Given the description of an element on the screen output the (x, y) to click on. 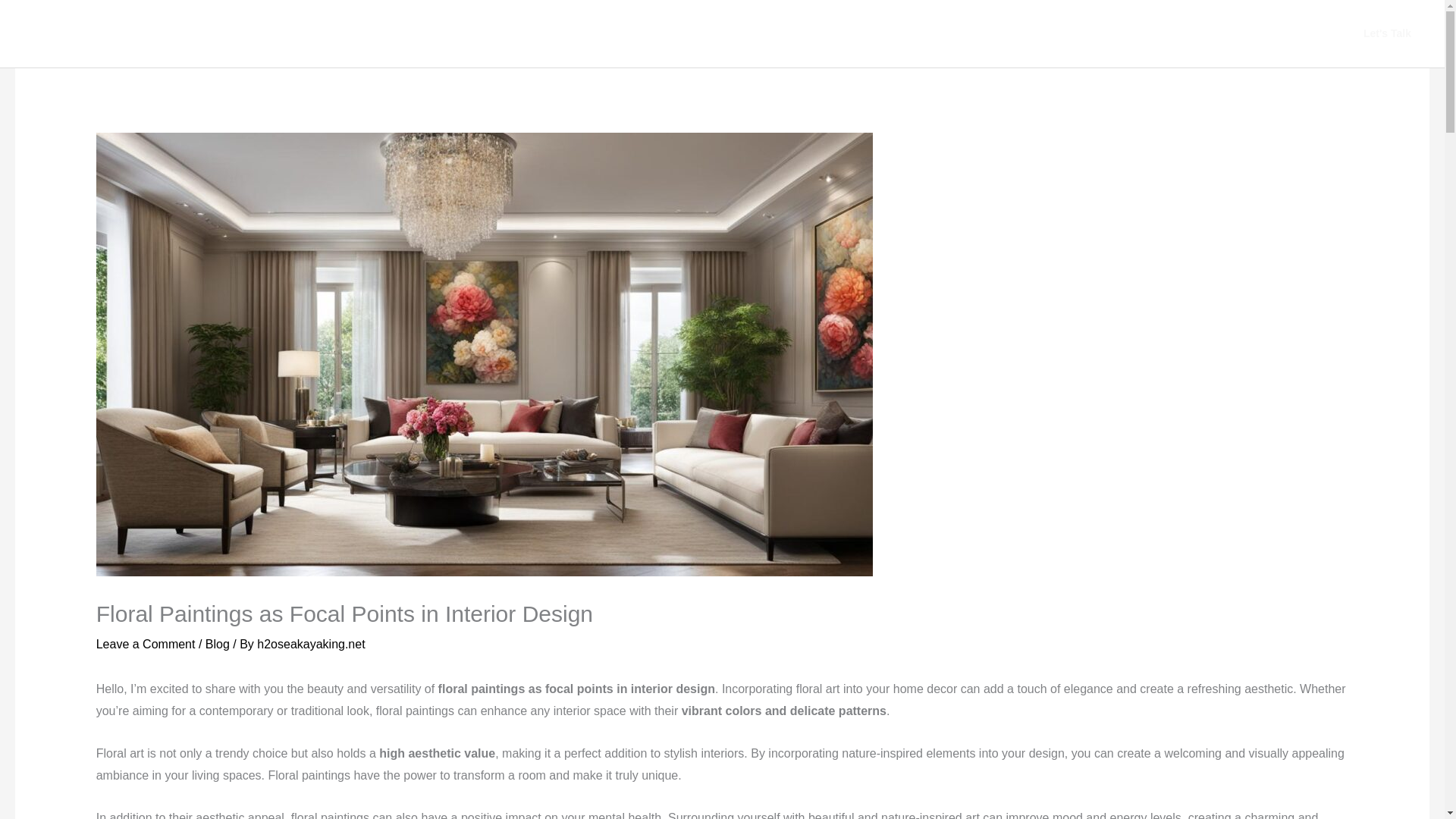
Blog (1305, 33)
Leave a Comment (145, 644)
View all posts by h2oseakayaking.net (311, 644)
About Me (992, 33)
Get In Touch (1134, 33)
h2oseakayaking.net (311, 644)
Home (926, 33)
Gears (1059, 33)
Privacy Policy (1230, 33)
Let's Talk (1387, 33)
